Given the description of an element on the screen output the (x, y) to click on. 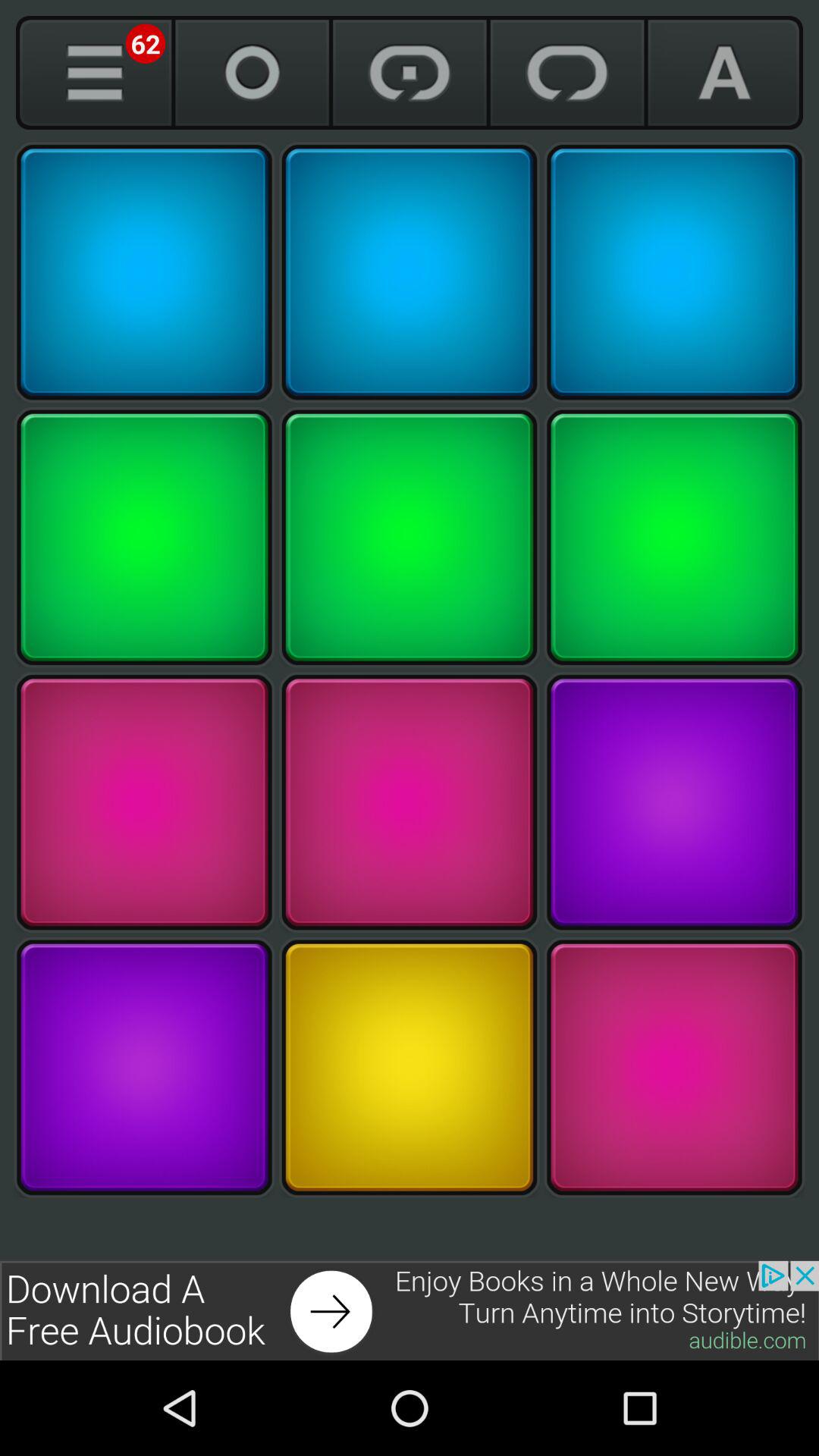
select this color (409, 802)
